Given the description of an element on the screen output the (x, y) to click on. 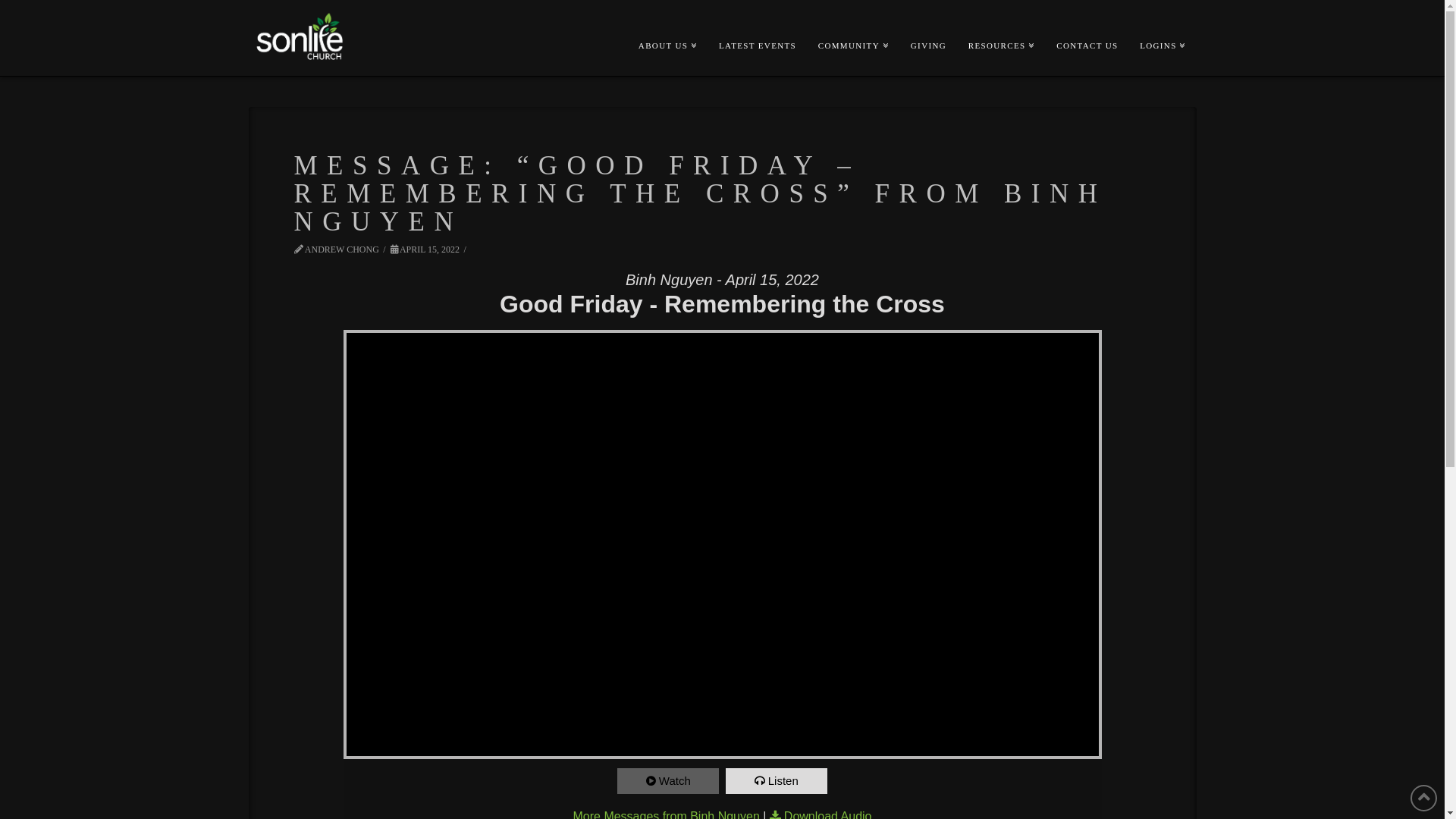
RESOURCES Element type: text (1001, 20)
CONTACT US Element type: text (1086, 20)
LOGINS Element type: text (1161, 20)
LATEST EVENTS Element type: text (756, 20)
ABOUT US Element type: text (667, 20)
COMMUNITY Element type: text (852, 20)
YouTube video player Element type: hover (721, 544)
Listen Element type: text (776, 780)
GIVING Element type: text (928, 20)
Watch Element type: text (667, 780)
Back to Top Element type: hover (1423, 797)
